Given the description of an element on the screen output the (x, y) to click on. 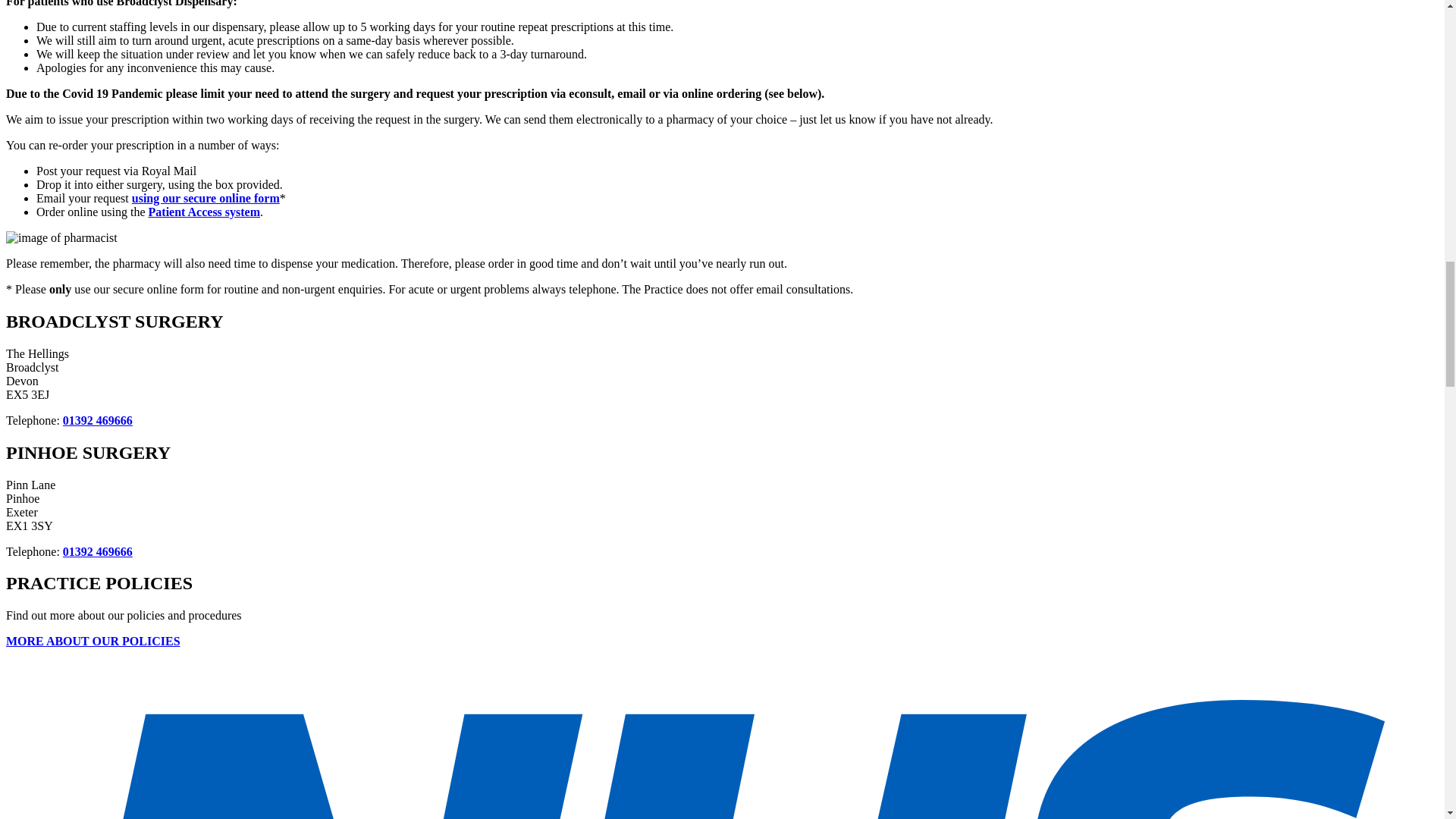
MORE ABOUT OUR POLICIES (92, 640)
01392 469666 (97, 550)
01392 469666 (97, 420)
using our secure online form (205, 197)
Patient Access system (204, 211)
